Given the description of an element on the screen output the (x, y) to click on. 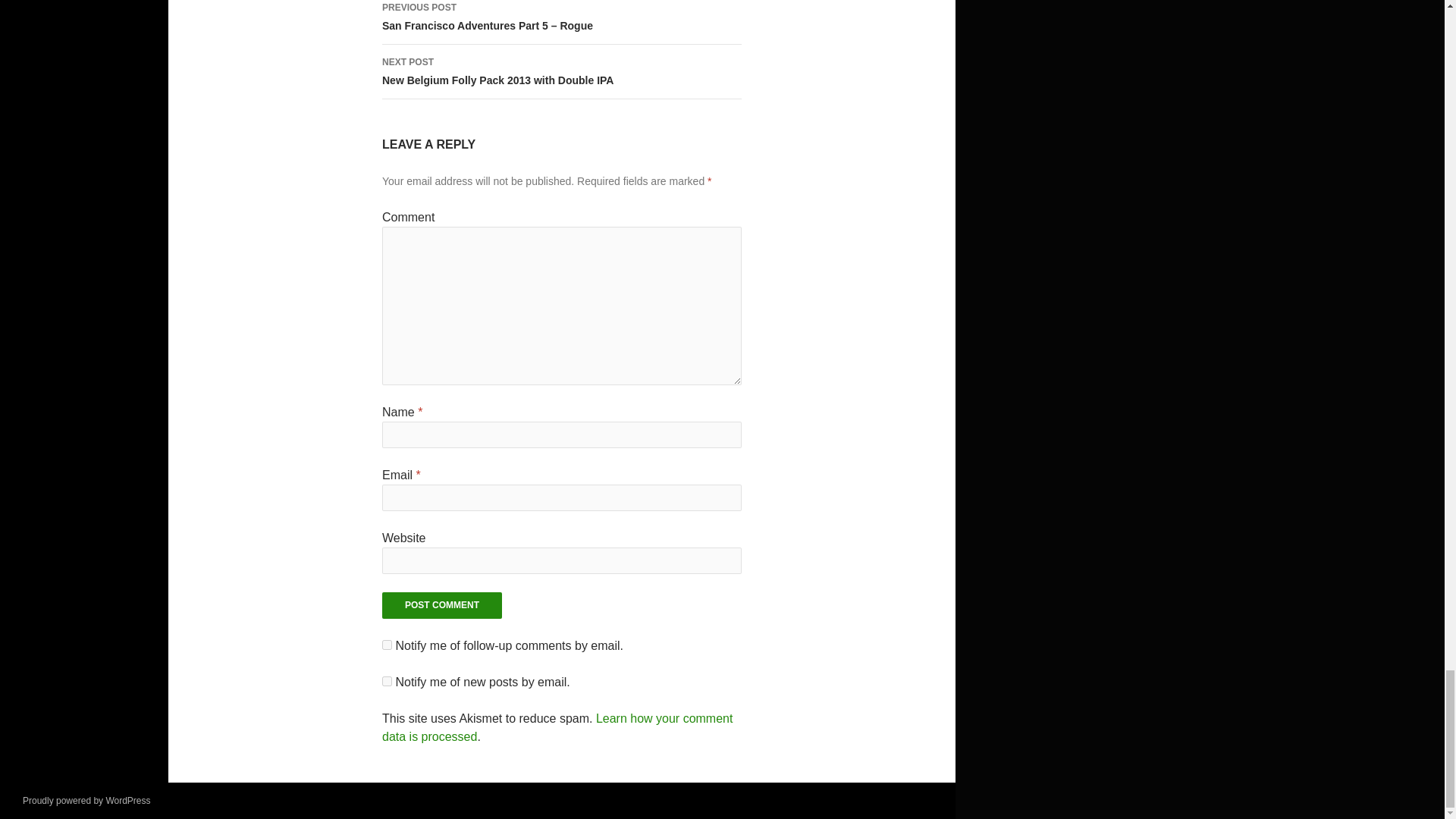
Learn how your comment data is processed (556, 726)
subscribe (386, 644)
Post Comment (441, 605)
subscribe (386, 681)
Post Comment (561, 72)
